Given the description of an element on the screen output the (x, y) to click on. 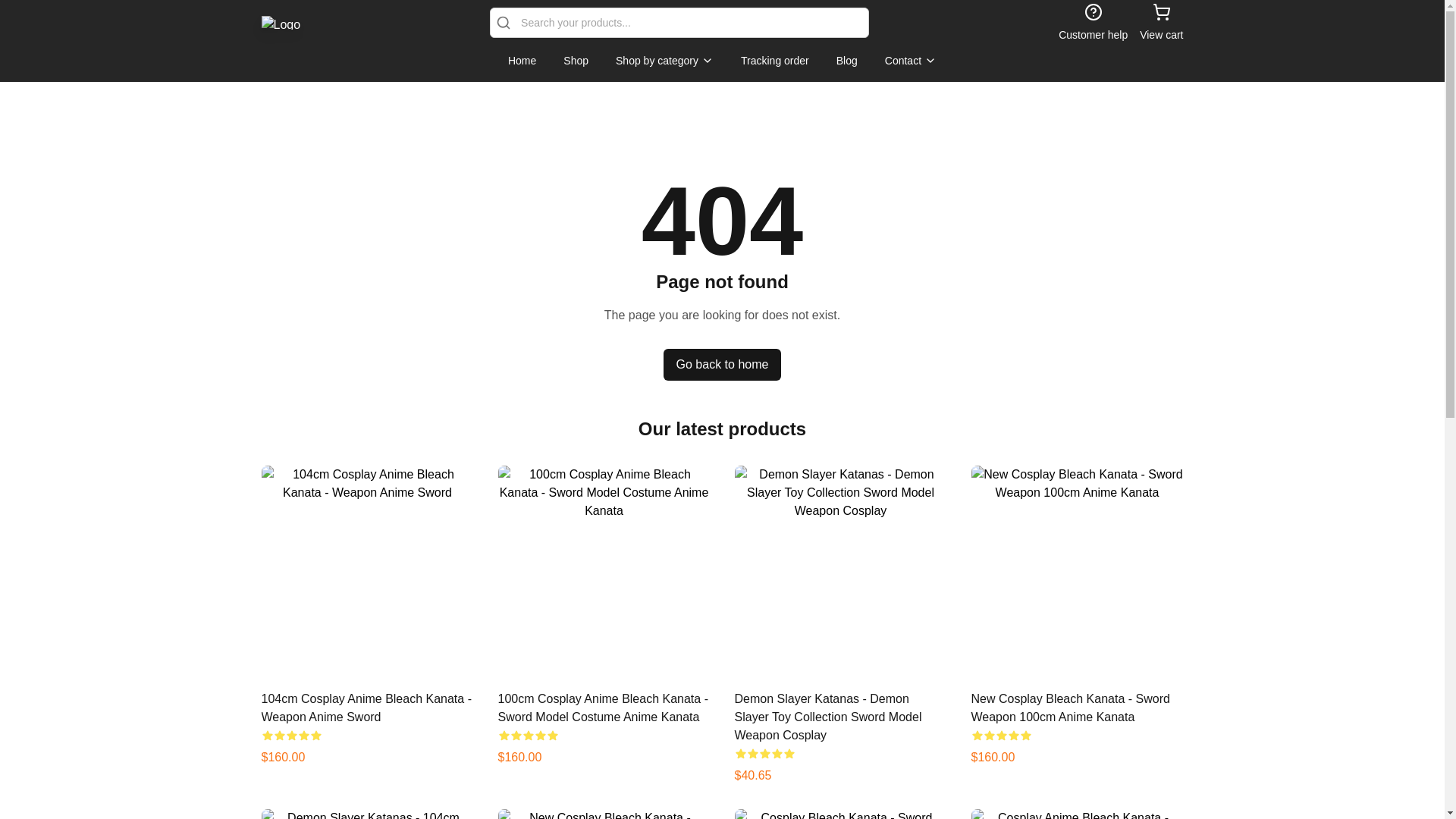
New Cosplay Bleach Kanata - Sword Weapon 100cm Anime Kanata (1070, 707)
Shop (575, 60)
104cm Cosplay Anime Bleach Kanata - Weapon Anime Sword (365, 707)
Anime Katana Shop - The Best Anime Katana Store (279, 22)
View cart (1161, 22)
view cart (1161, 22)
Tracking order (775, 60)
Home (522, 60)
Blog (846, 60)
